Given the description of an element on the screen output the (x, y) to click on. 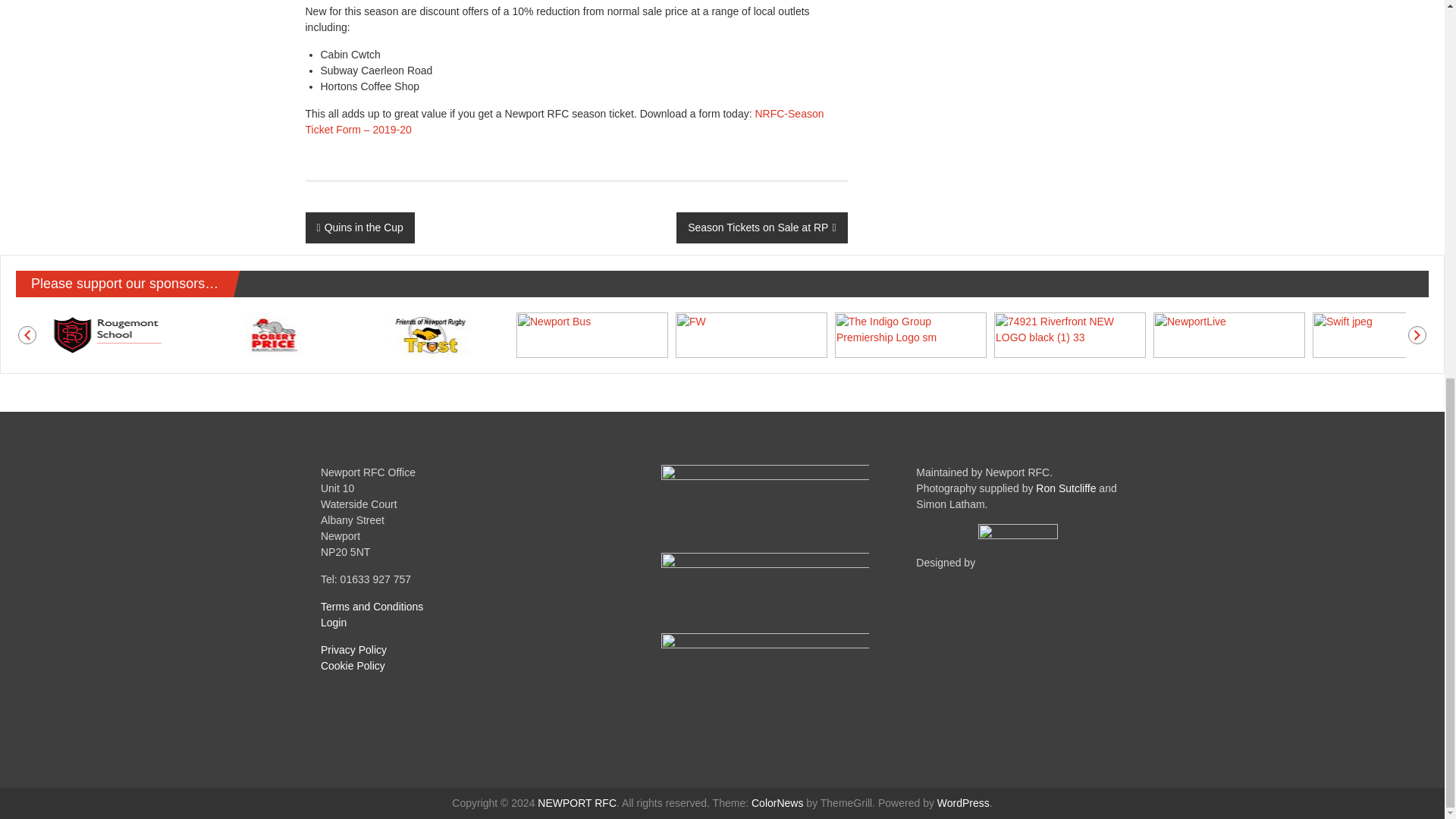
FW (751, 334)
ColorNews (777, 802)
rougemont-200-6 (114, 334)
friendsofnewpor (432, 334)
NewportLive (1228, 334)
Newport Bus (592, 334)
NEWPORT RFC (576, 802)
robertprice (273, 334)
The Indigo Group Premiership Logo sm (910, 334)
WordPress (963, 802)
